Given the description of an element on the screen output the (x, y) to click on. 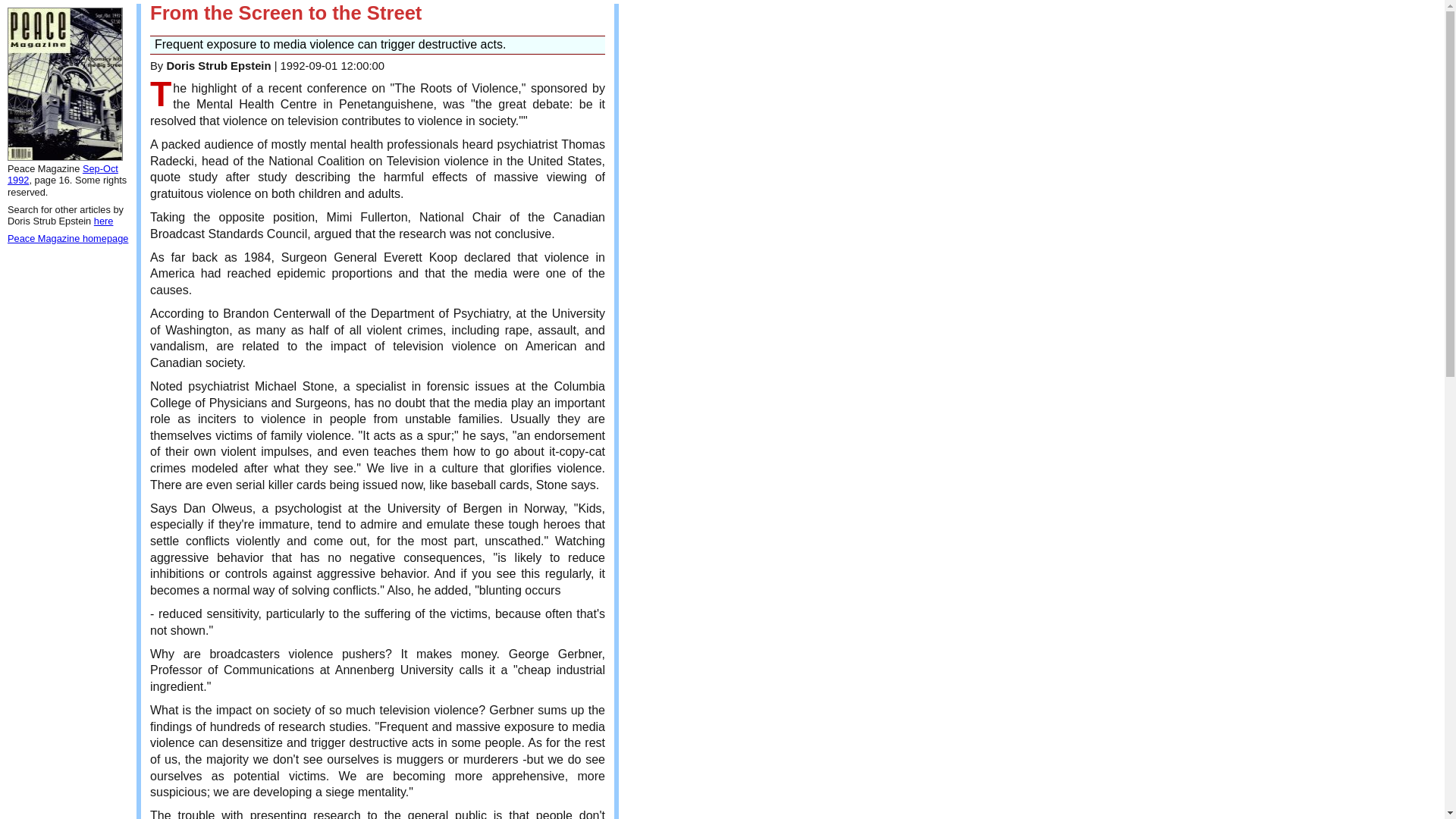
here (103, 220)
Peace Magazine homepage (67, 238)
Sep-Oct 1992 (62, 173)
